Given the description of an element on the screen output the (x, y) to click on. 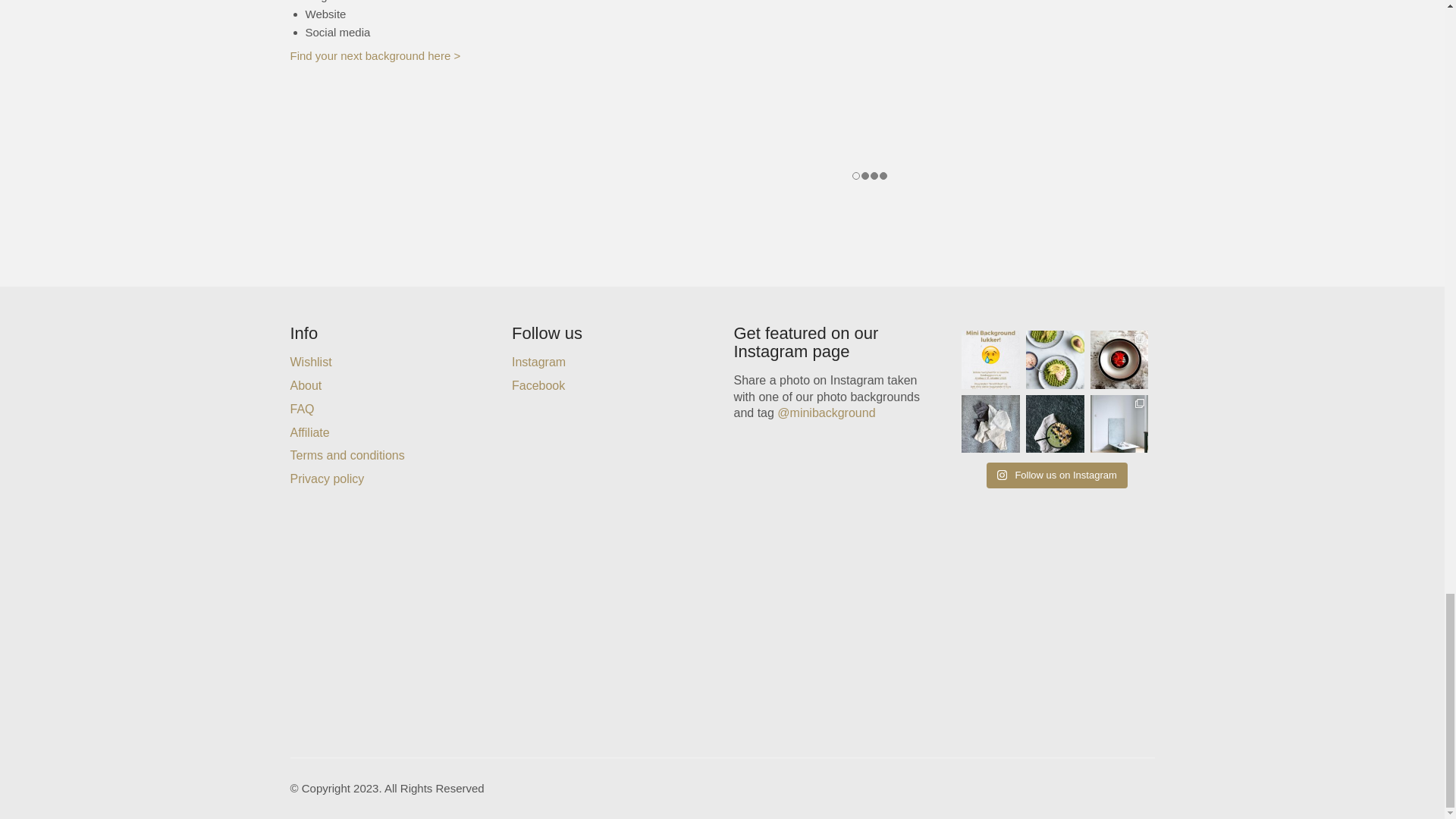
Privacy policy (326, 478)
Affiliate (309, 432)
Facebook (538, 385)
Follow us on Instagram (1056, 475)
Instagram (539, 361)
Wishlist (310, 361)
FAQ (301, 408)
About (305, 385)
Terms and conditions (346, 455)
